Given the description of an element on the screen output the (x, y) to click on. 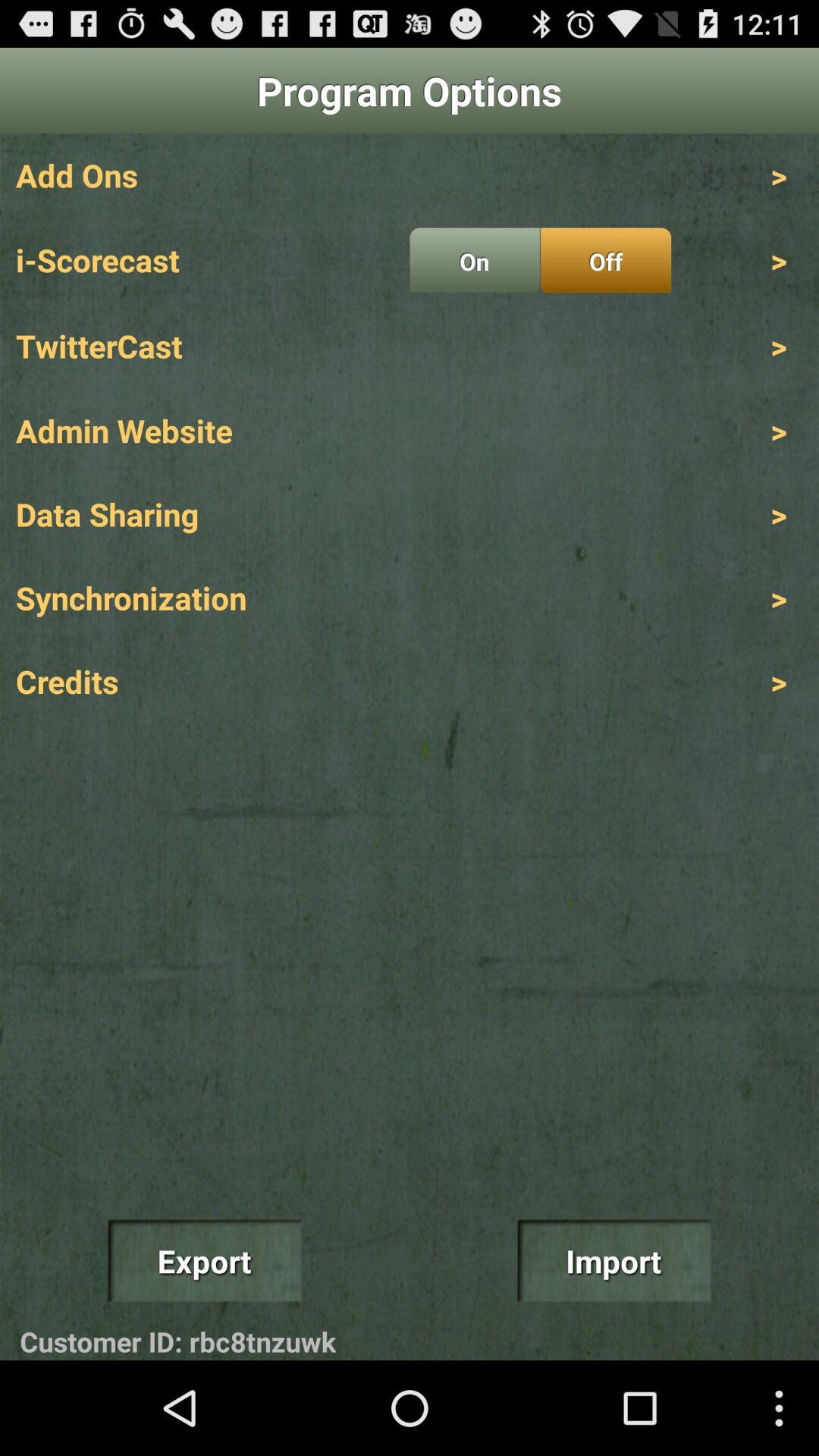
tap on item (474, 259)
